Given the description of an element on the screen output the (x, y) to click on. 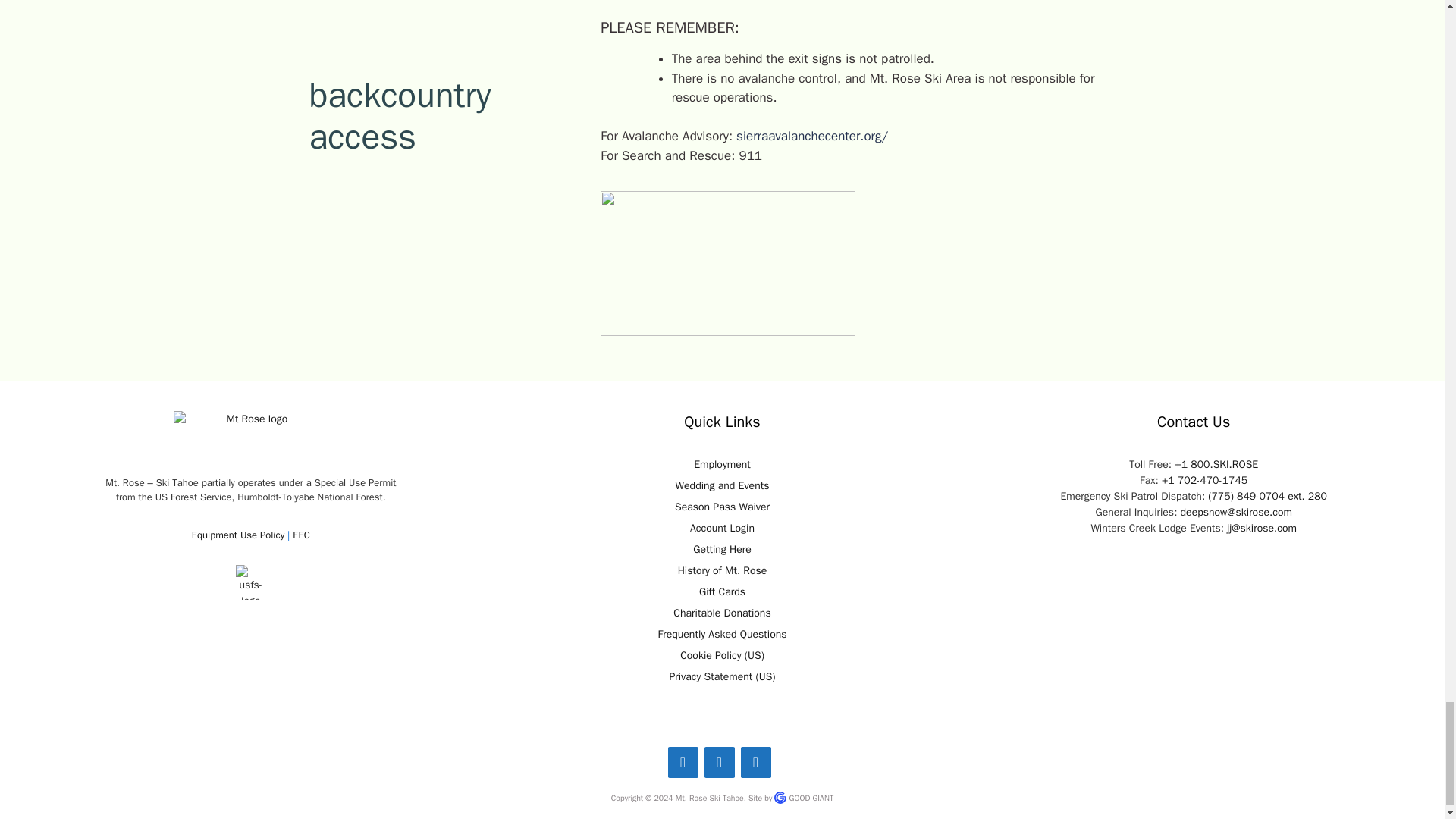
Twitter (754, 762)
Facebook (681, 762)
Instagram (718, 762)
Good Giant marketing agency. (809, 798)
